Given the description of an element on the screen output the (x, y) to click on. 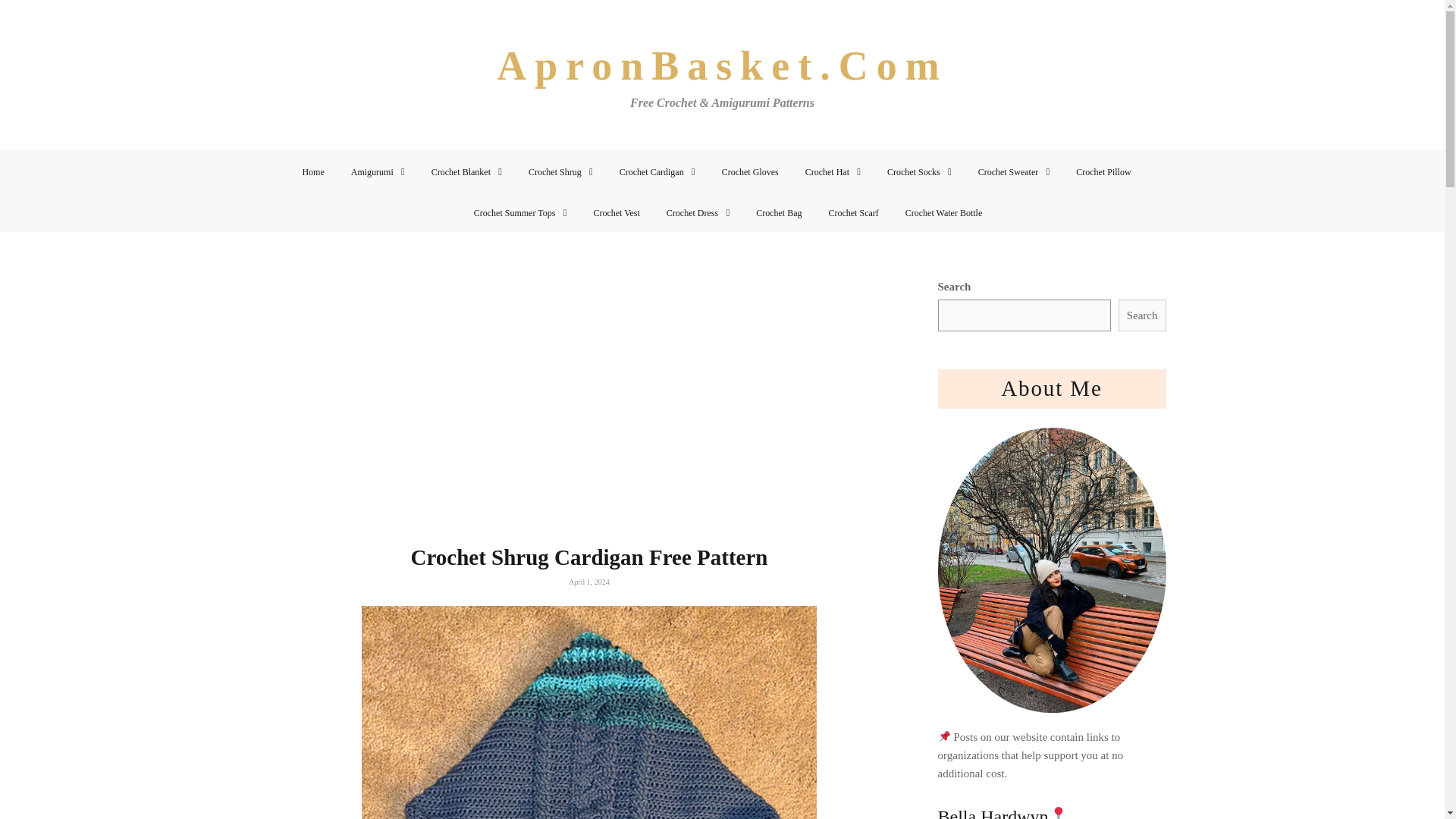
Advertisement (589, 410)
